Given the description of an element on the screen output the (x, y) to click on. 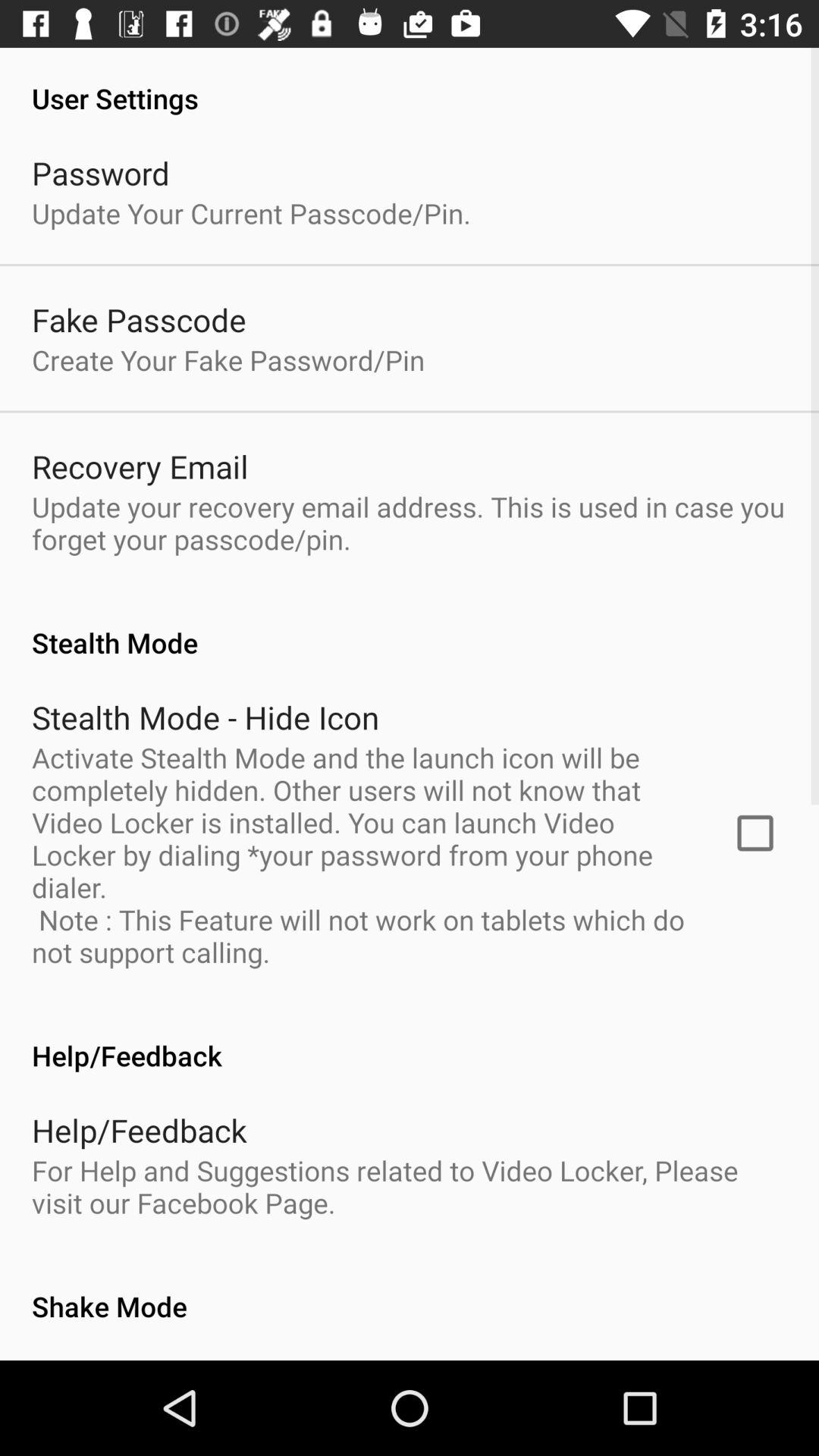
click icon next to the activate stealth mode icon (755, 833)
